Given the description of an element on the screen output the (x, y) to click on. 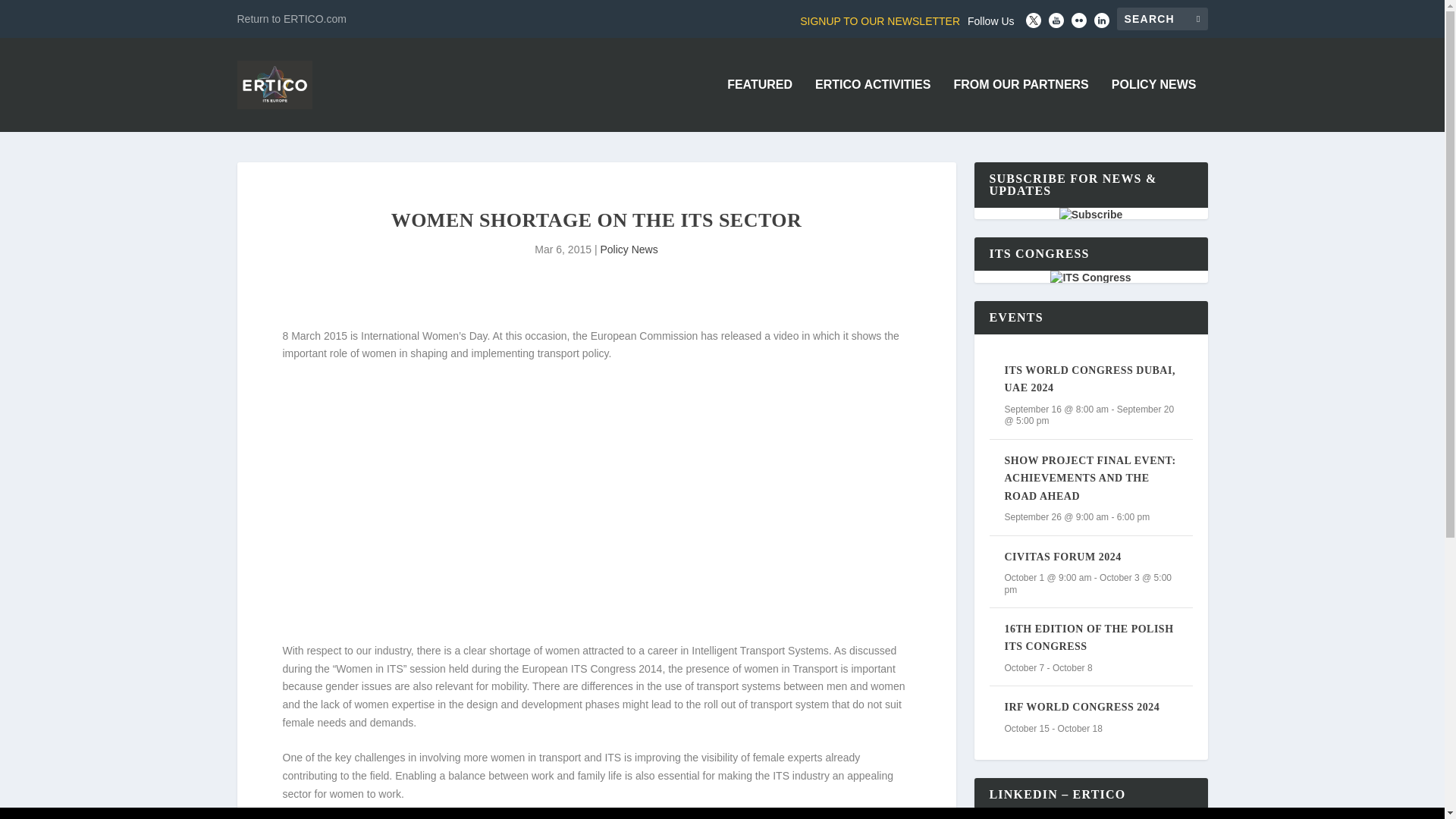
SHOW PROJECT FINAL EVENT: ACHIEVEMENTS AND THE ROAD AHEAD (1089, 478)
POLICY NEWS (1154, 104)
ITS WORLD CONGRESS DUBAI, UAE 2024 (1089, 378)
Search for: (1161, 18)
FEATURED (759, 104)
FROM OUR PARTNERS (1020, 104)
SIGNUP TO OUR NEWSLETTER (879, 21)
ERTICO ACTIVITIES (872, 104)
Policy News (628, 249)
CIVITAS FORUM 2024 (1062, 556)
